Given the description of an element on the screen output the (x, y) to click on. 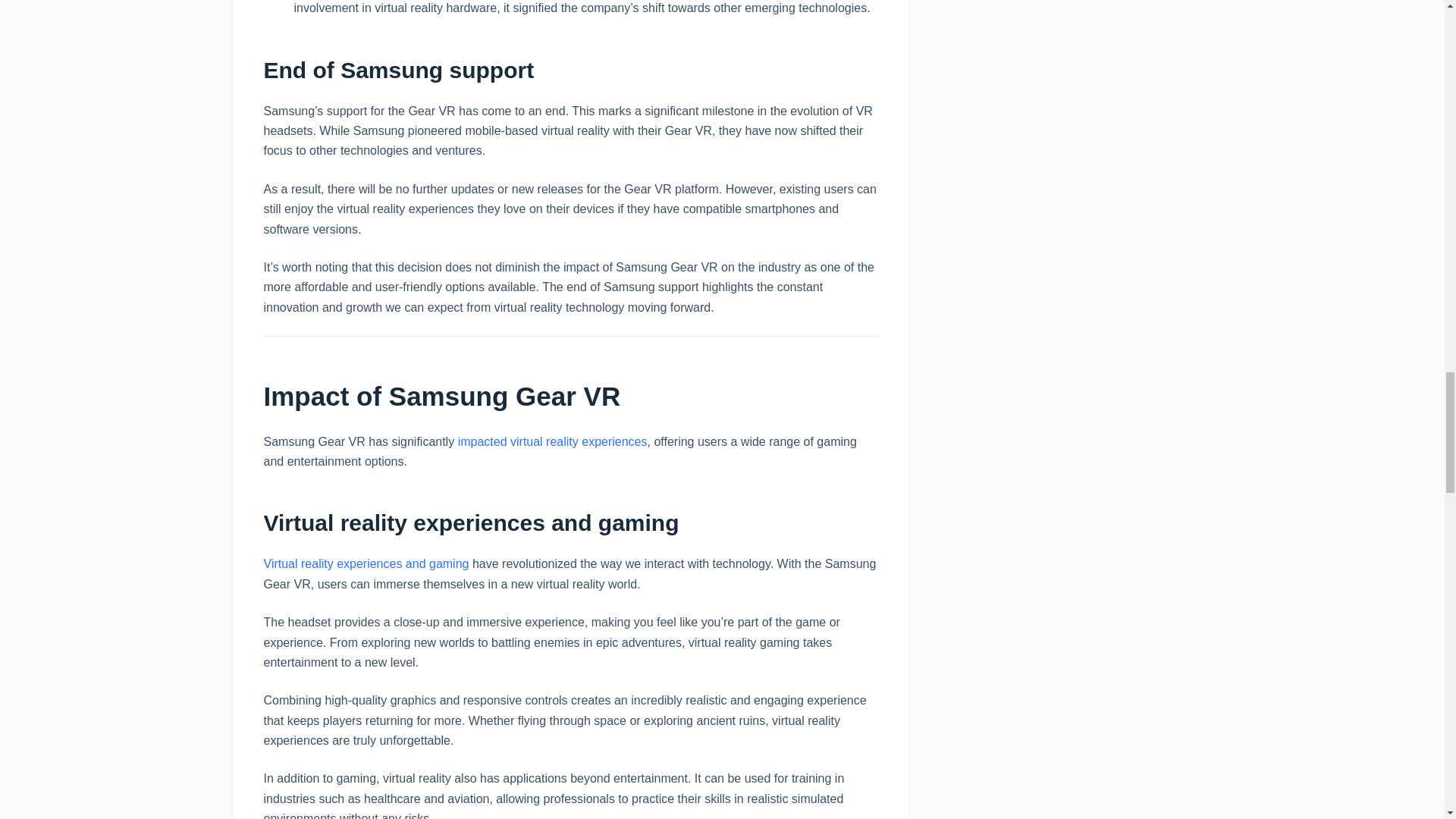
Virtual reality experiences and gaming (365, 563)
impacted virtual reality experiences (552, 440)
